Given the description of an element on the screen output the (x, y) to click on. 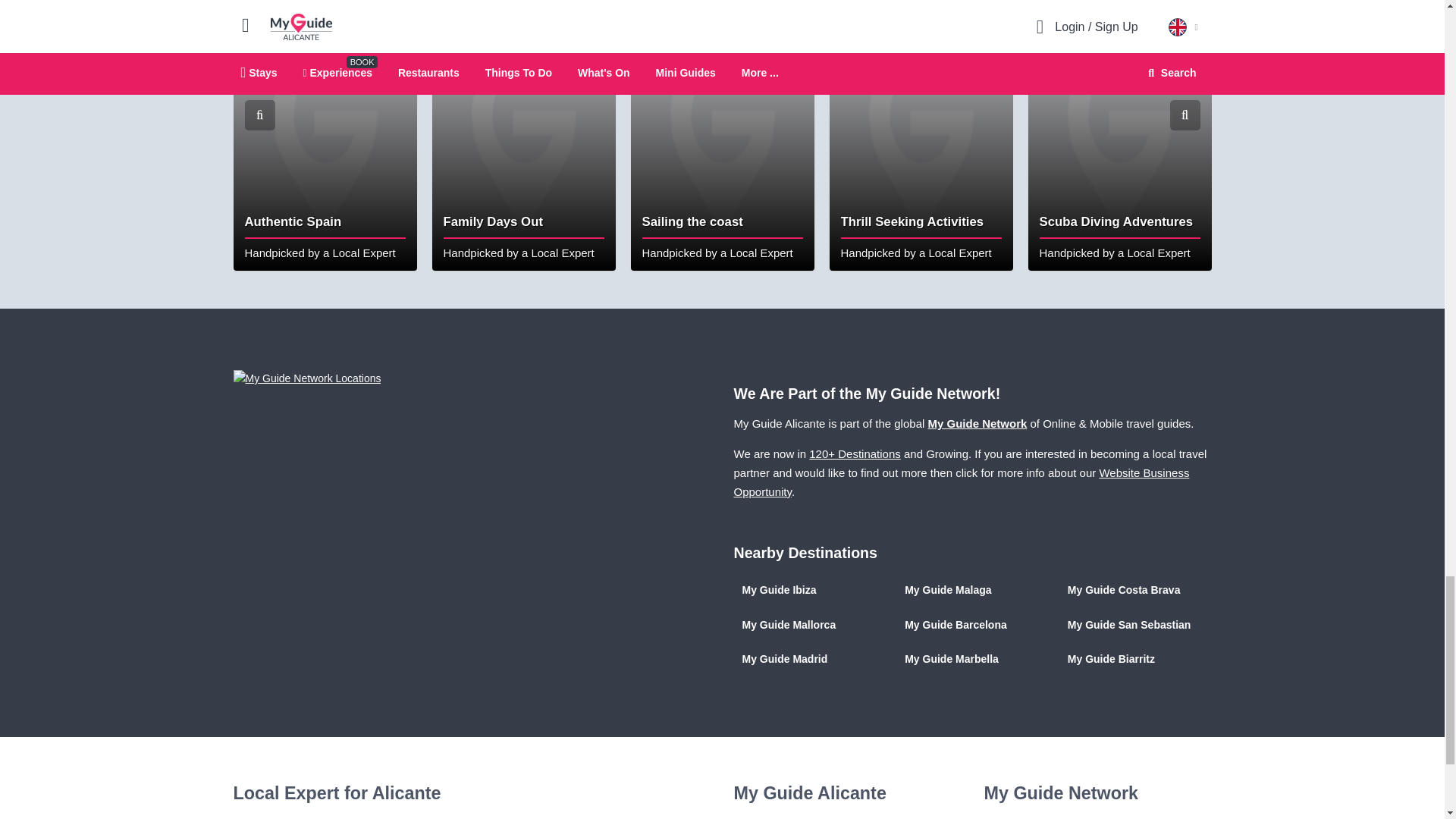
Family Days Out (523, 136)
Authentic Spain (324, 136)
